Given the description of an element on the screen output the (x, y) to click on. 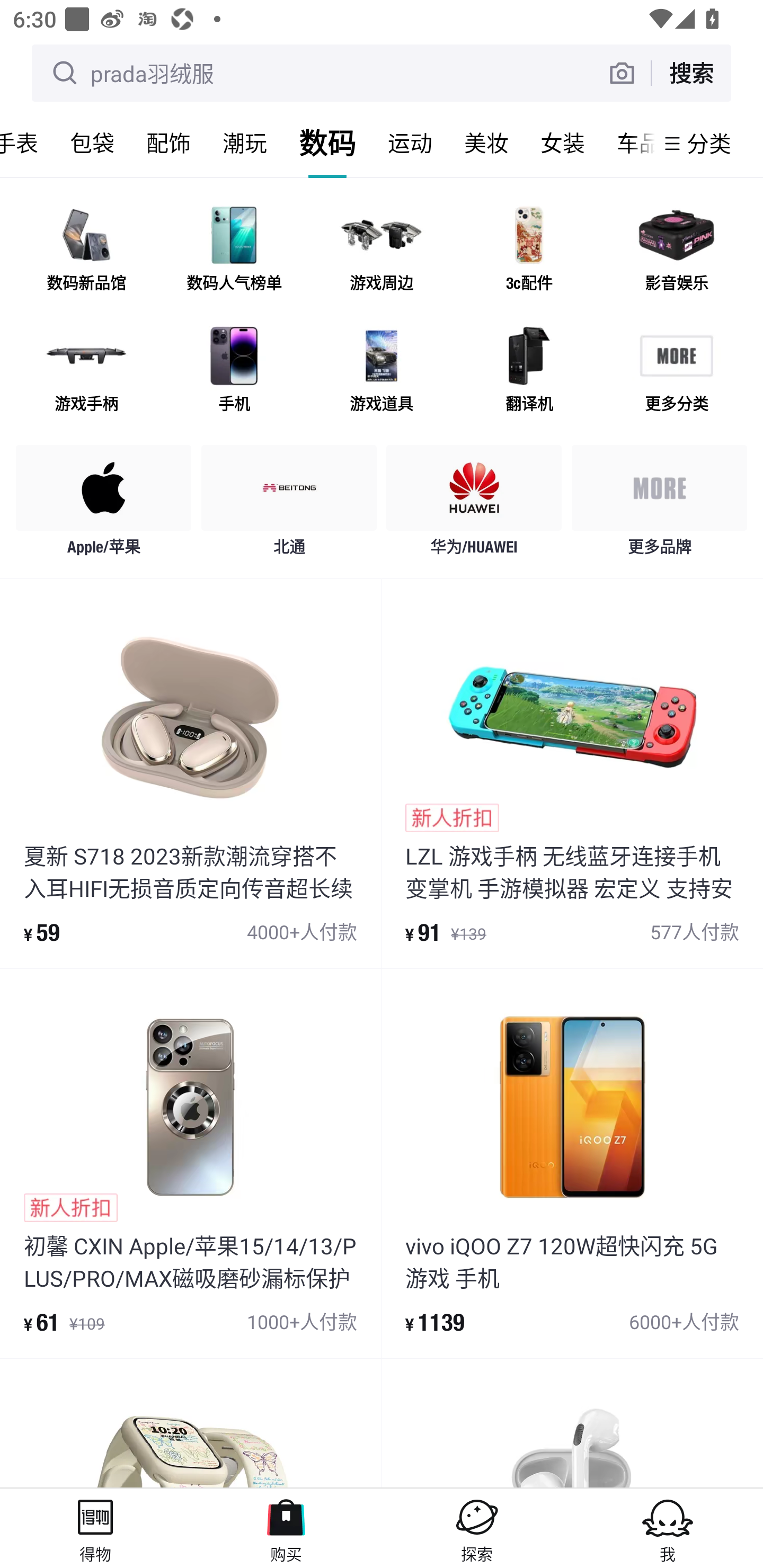
prada羽绒服 搜索 (381, 72)
搜索 (690, 72)
手表 (27, 143)
包袋 (92, 143)
配饰 (168, 143)
潮玩 (244, 143)
数码 (327, 143)
运动 (410, 143)
美妆 (486, 143)
女装 (562, 143)
车品 (627, 143)
分类 (708, 143)
数码新品馆 (86, 251)
数码人气榜单 (233, 251)
游戏周边 (381, 251)
3c配件 (528, 251)
影音娱乐 (676, 251)
游戏手柄 (86, 372)
手机 (233, 372)
游戏道具 (381, 372)
翻译机 (528, 372)
更多分类 (676, 372)
Apple/苹果 (103, 505)
北通 (288, 505)
华为/HUAWEI (473, 505)
更多品牌 (658, 505)
得物 (95, 1528)
购买 (285, 1528)
探索 (476, 1528)
我 (667, 1528)
